Given the description of an element on the screen output the (x, y) to click on. 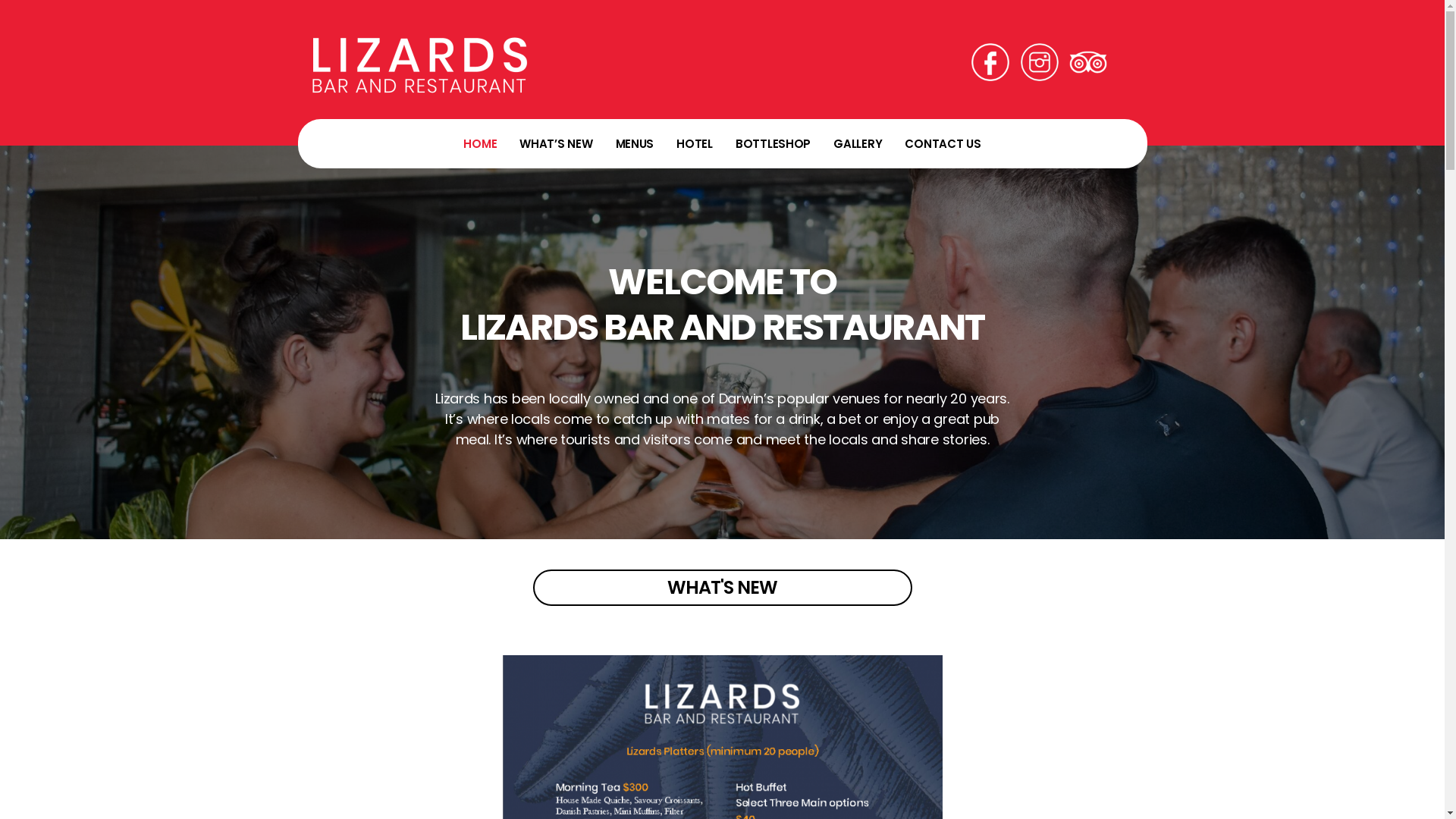
CONTACT US Element type: text (942, 143)
GALLERY Element type: text (857, 143)
BOTTLESHOP Element type: text (773, 143)
MENUS Element type: text (634, 143)
HOTEL Element type: text (694, 143)
HOME Element type: text (479, 143)
